Given the description of an element on the screen output the (x, y) to click on. 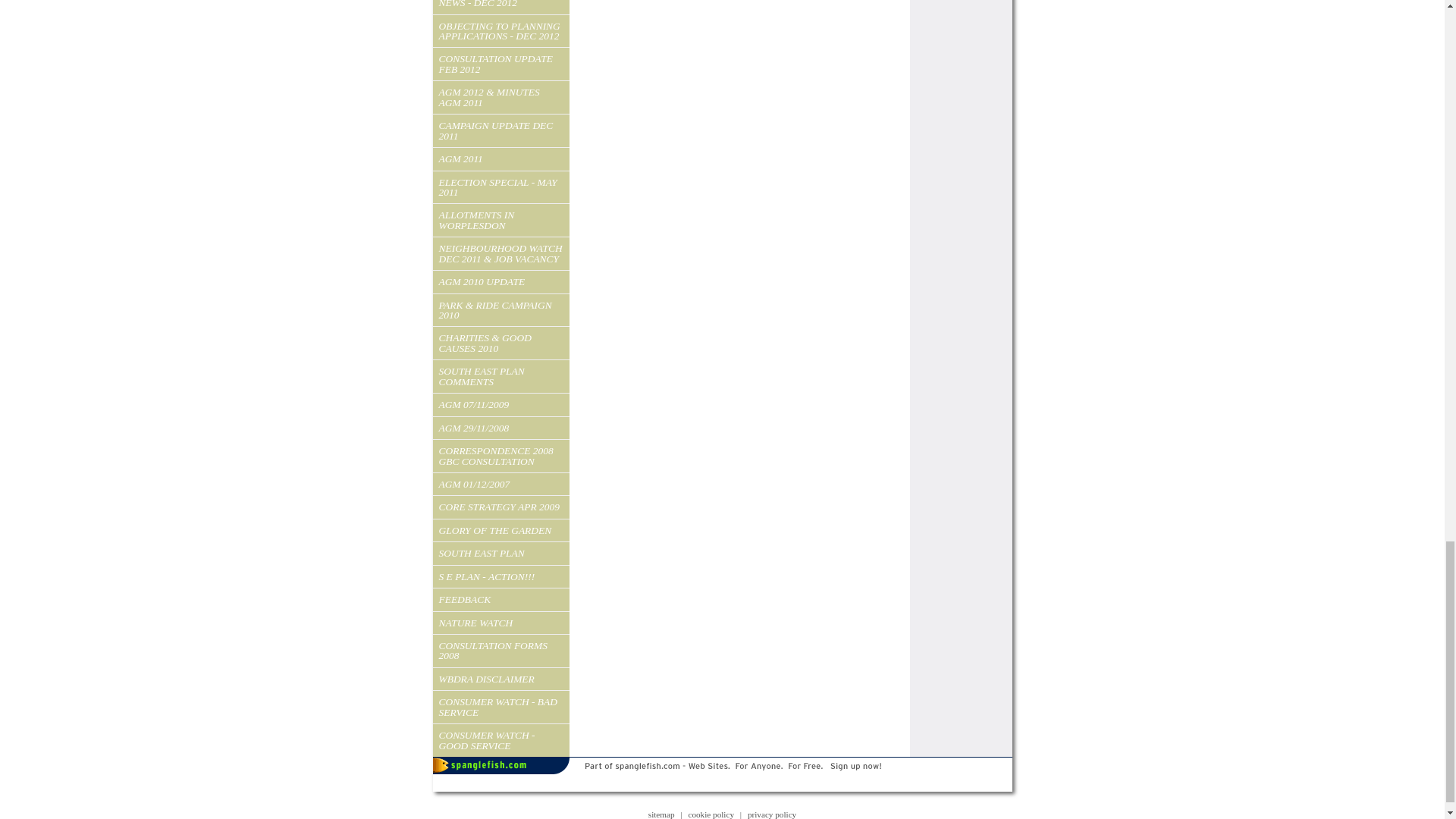
Free website (721, 780)
